Given the description of an element on the screen output the (x, y) to click on. 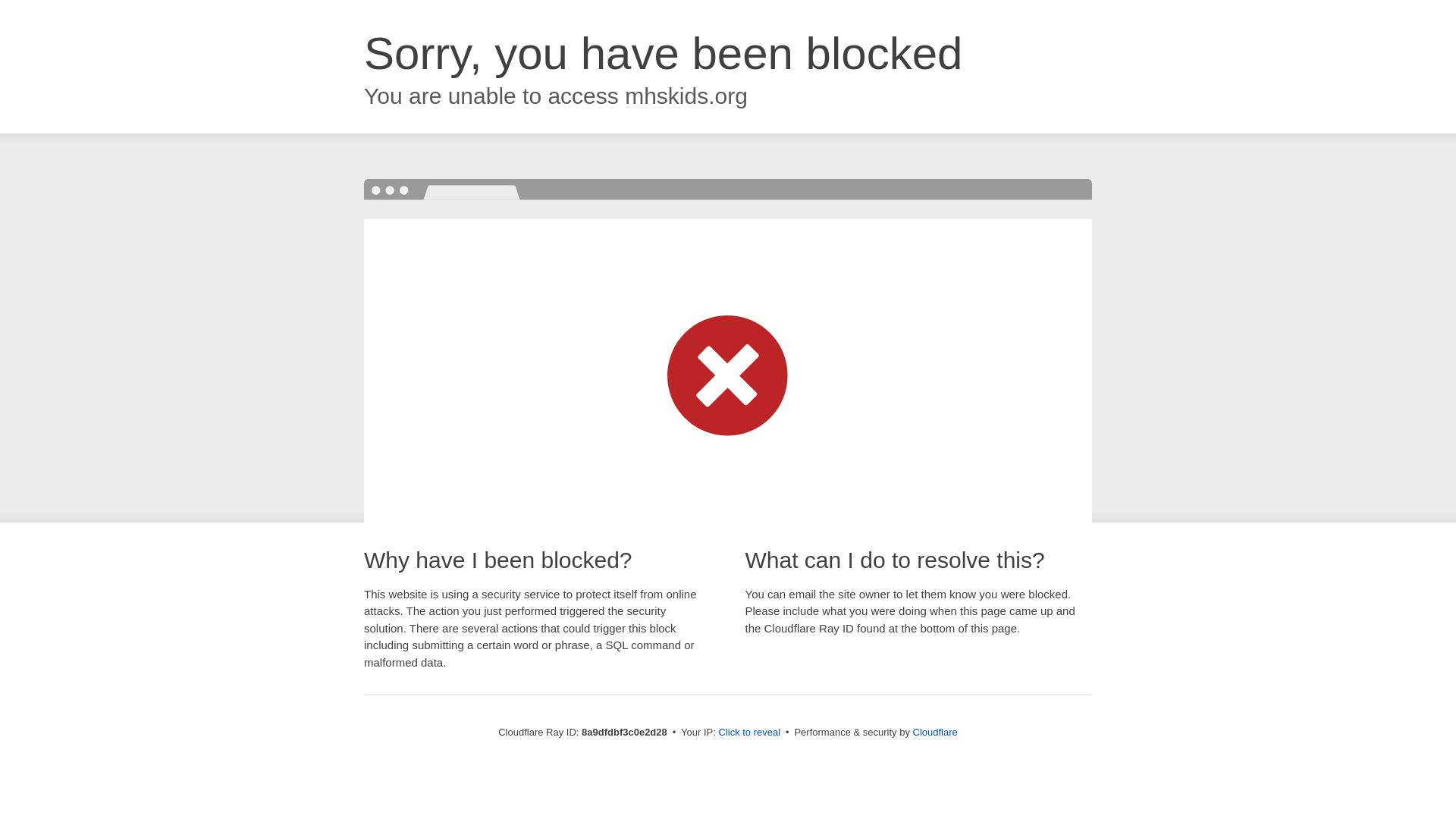
Cloudflare (935, 731)
Click to reveal (748, 732)
